Given the description of an element on the screen output the (x, y) to click on. 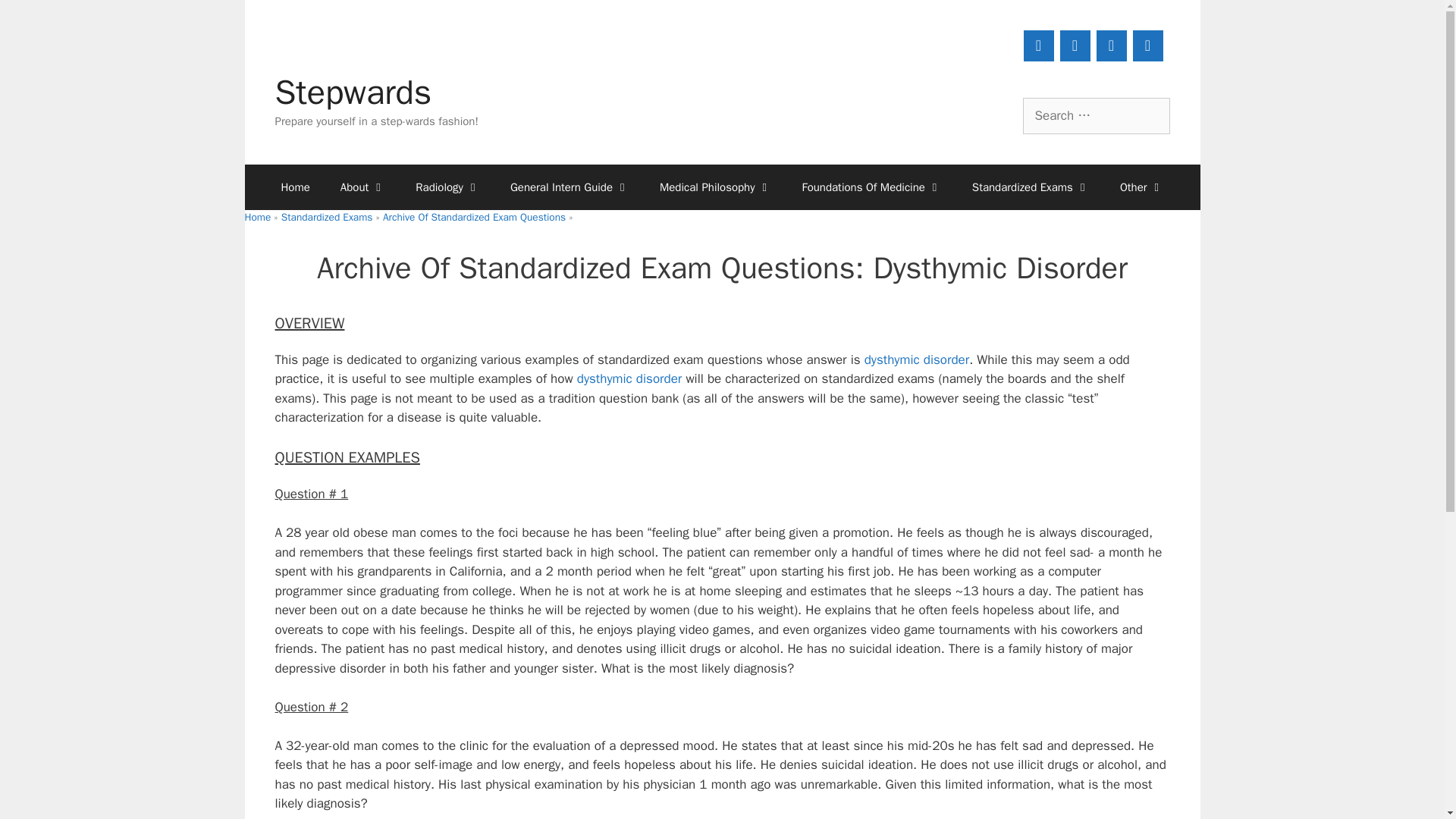
Medical Philosophy (716, 186)
Facebook (1074, 45)
About (362, 186)
Search (35, 18)
Stepwards (352, 92)
General Intern Guide (570, 186)
Home (294, 186)
Radiology (447, 186)
Page 183 (722, 777)
Instagram (1111, 45)
Twitter (1147, 45)
YouTube (1038, 45)
Foundations Of Medicine (871, 186)
Search for: (1095, 115)
